Given the description of an element on the screen output the (x, y) to click on. 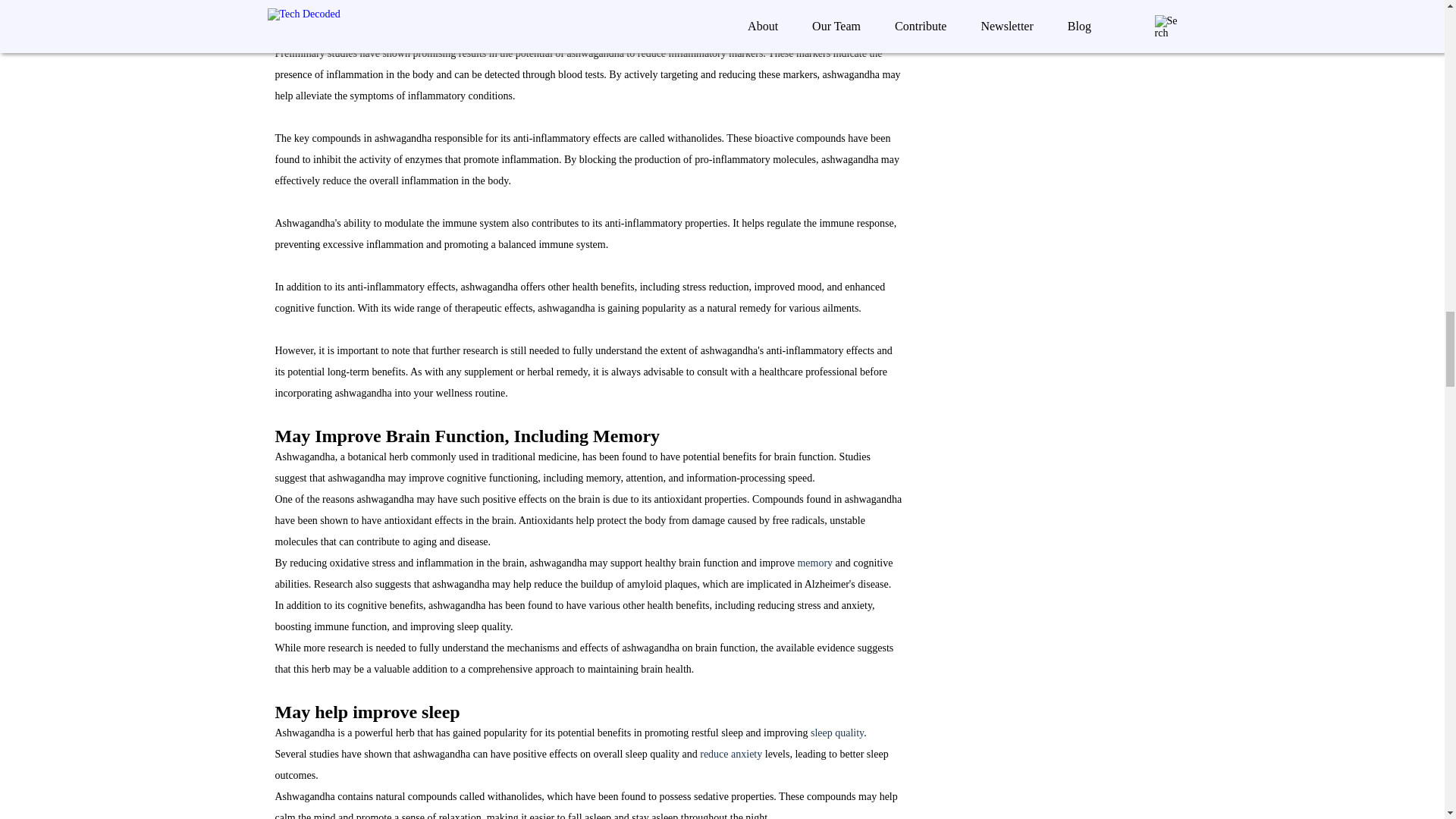
reduce anxiety (730, 754)
memory (814, 562)
sleep quality (836, 732)
